Given the description of an element on the screen output the (x, y) to click on. 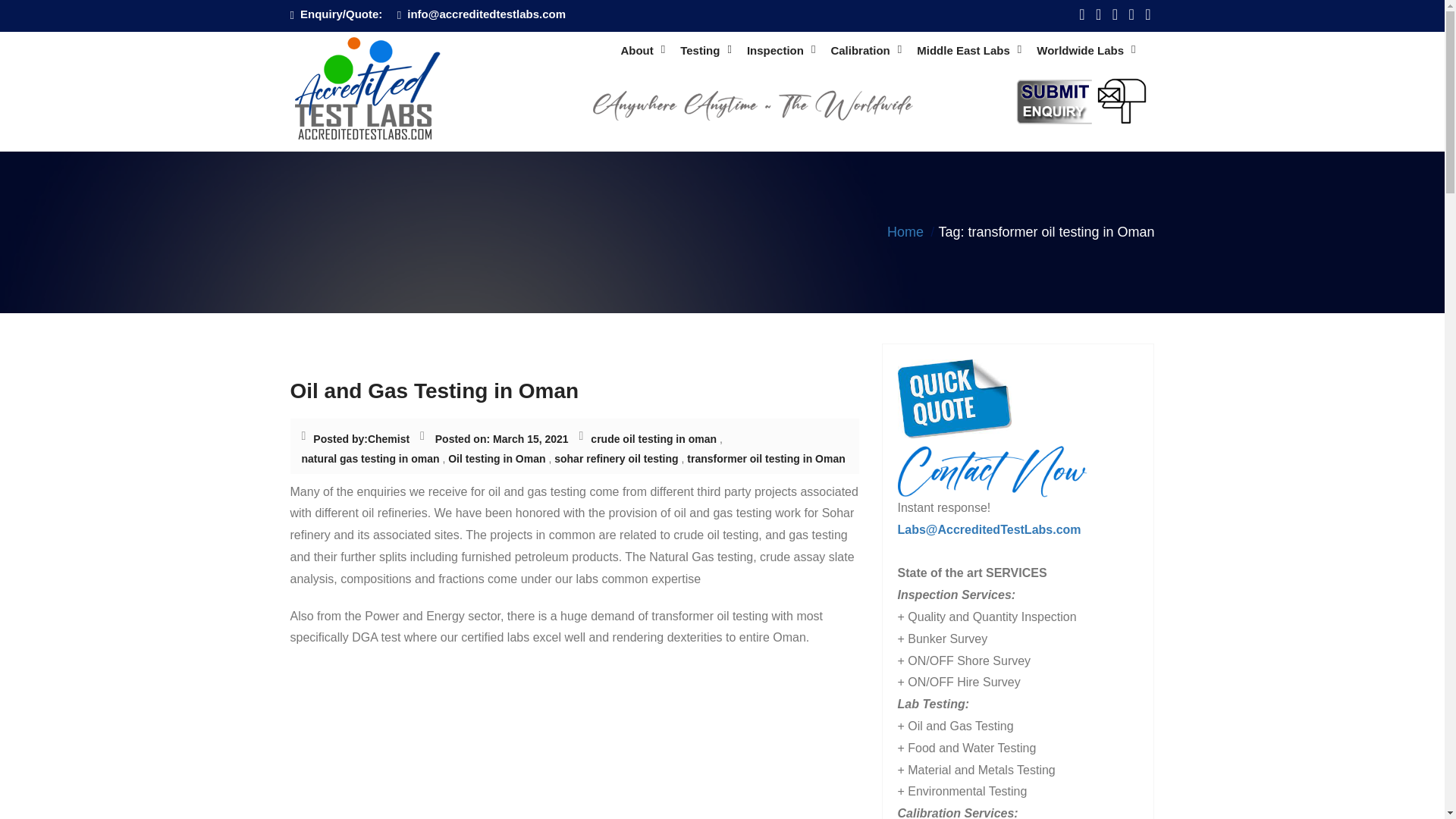
Inspection (781, 51)
Testing (705, 51)
About (642, 51)
About (642, 51)
Testing (705, 51)
